Given the description of an element on the screen output the (x, y) to click on. 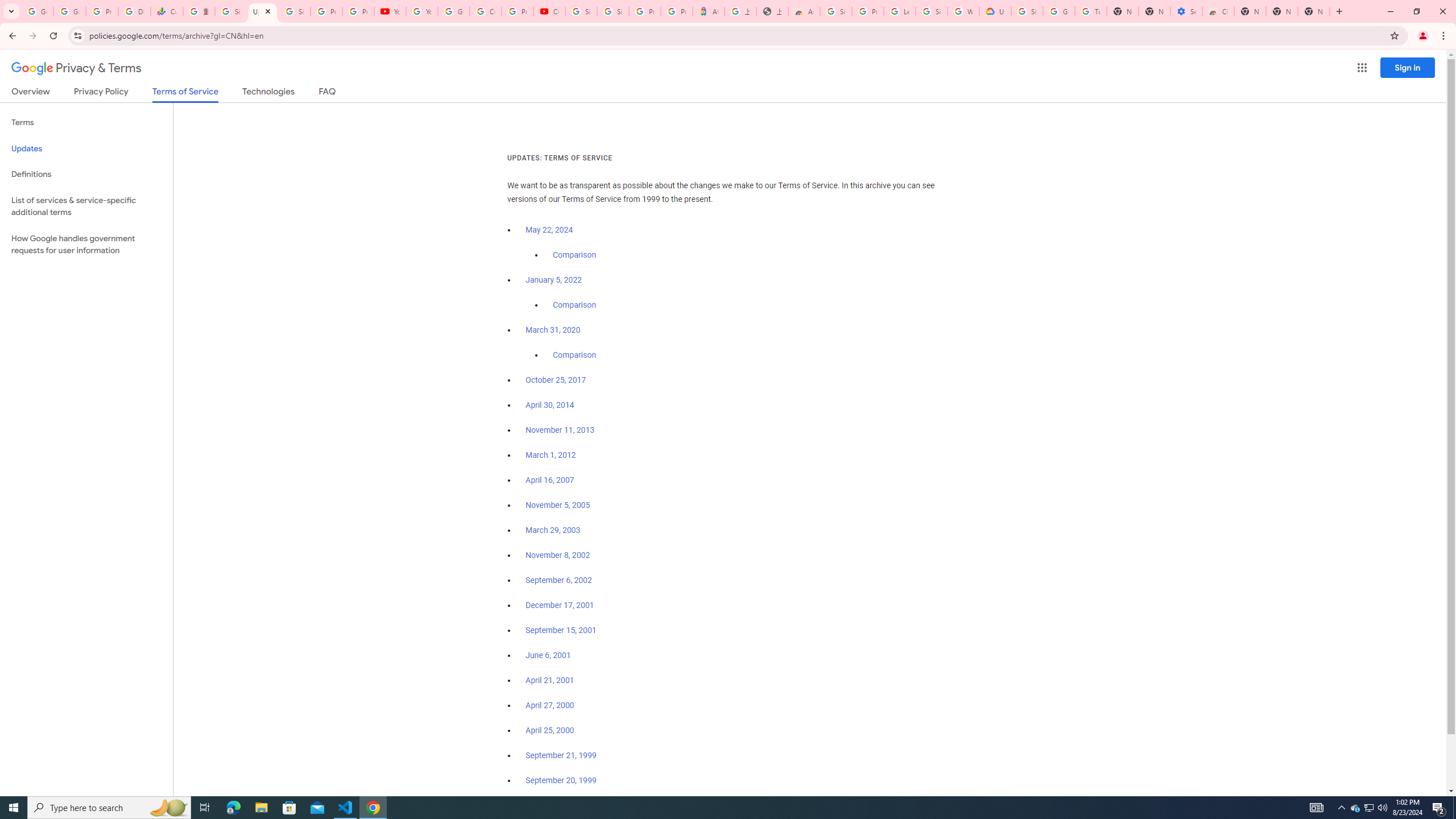
November 5, 2005 (557, 505)
Content Creator Programs & Opportunities - YouTube Creators (549, 11)
New Tab (1313, 11)
Sign in - Google Accounts (613, 11)
November 11, 2013 (560, 430)
